Given the description of an element on the screen output the (x, y) to click on. 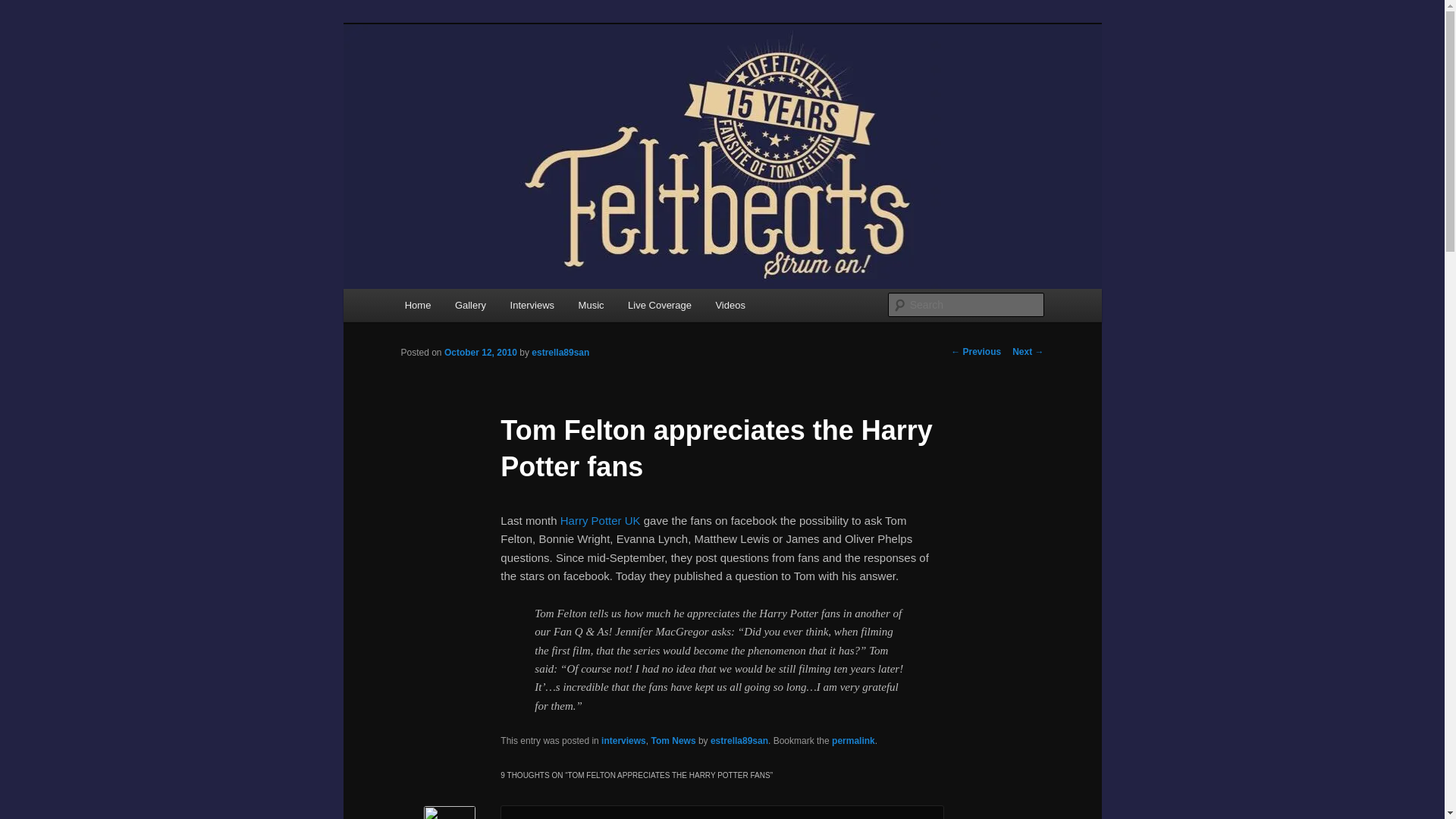
Interviews (531, 305)
2:40 pm (480, 352)
View all posts by estrella89san (560, 352)
Search (24, 8)
Home (417, 305)
Videos (730, 305)
Gallery (469, 305)
Permalink to Tom Felton appreciates the Harry Potter fans (853, 740)
Live Coverage (659, 305)
